Given the description of an element on the screen output the (x, y) to click on. 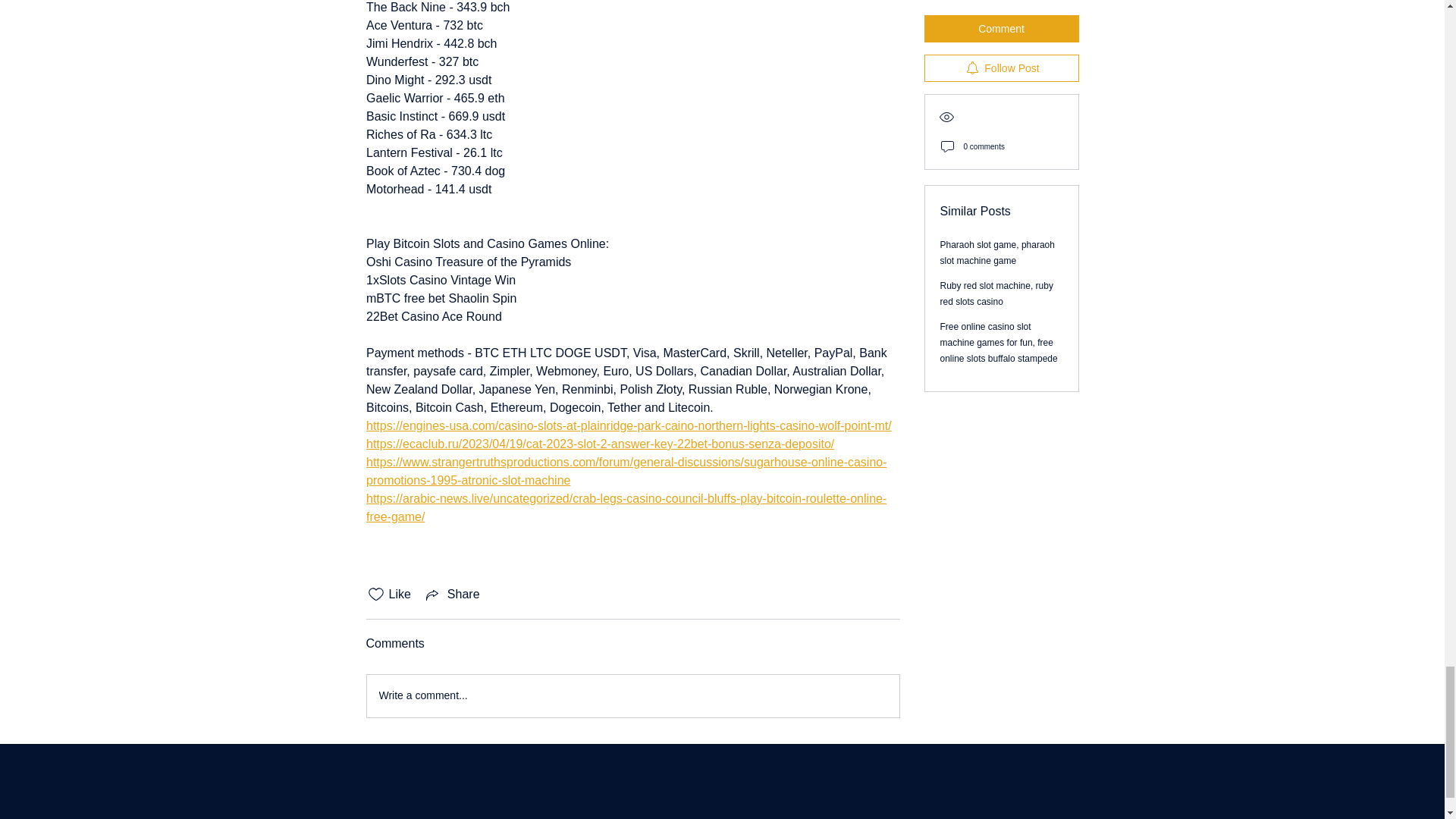
Share (451, 594)
Write a comment... (632, 695)
